Given the description of an element on the screen output the (x, y) to click on. 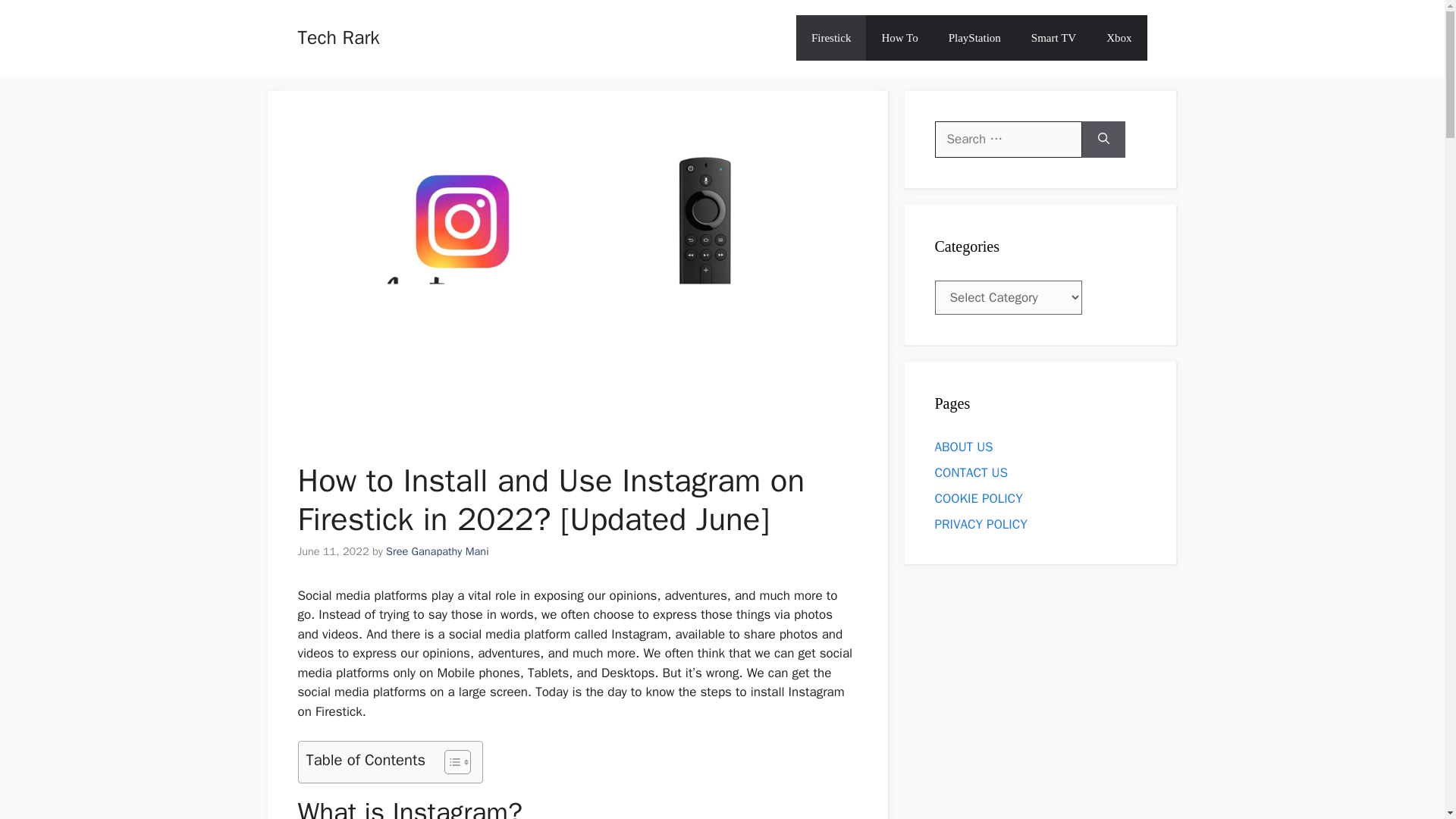
How To (899, 37)
Firestick (831, 37)
CONTACT US (970, 471)
Search for: (1007, 139)
PlayStation (974, 37)
Xbox (1118, 37)
Sree Ganapathy Mani (437, 550)
Tech Rark (337, 37)
Smart TV (1053, 37)
COOKIE POLICY (978, 497)
